Given the description of an element on the screen output the (x, y) to click on. 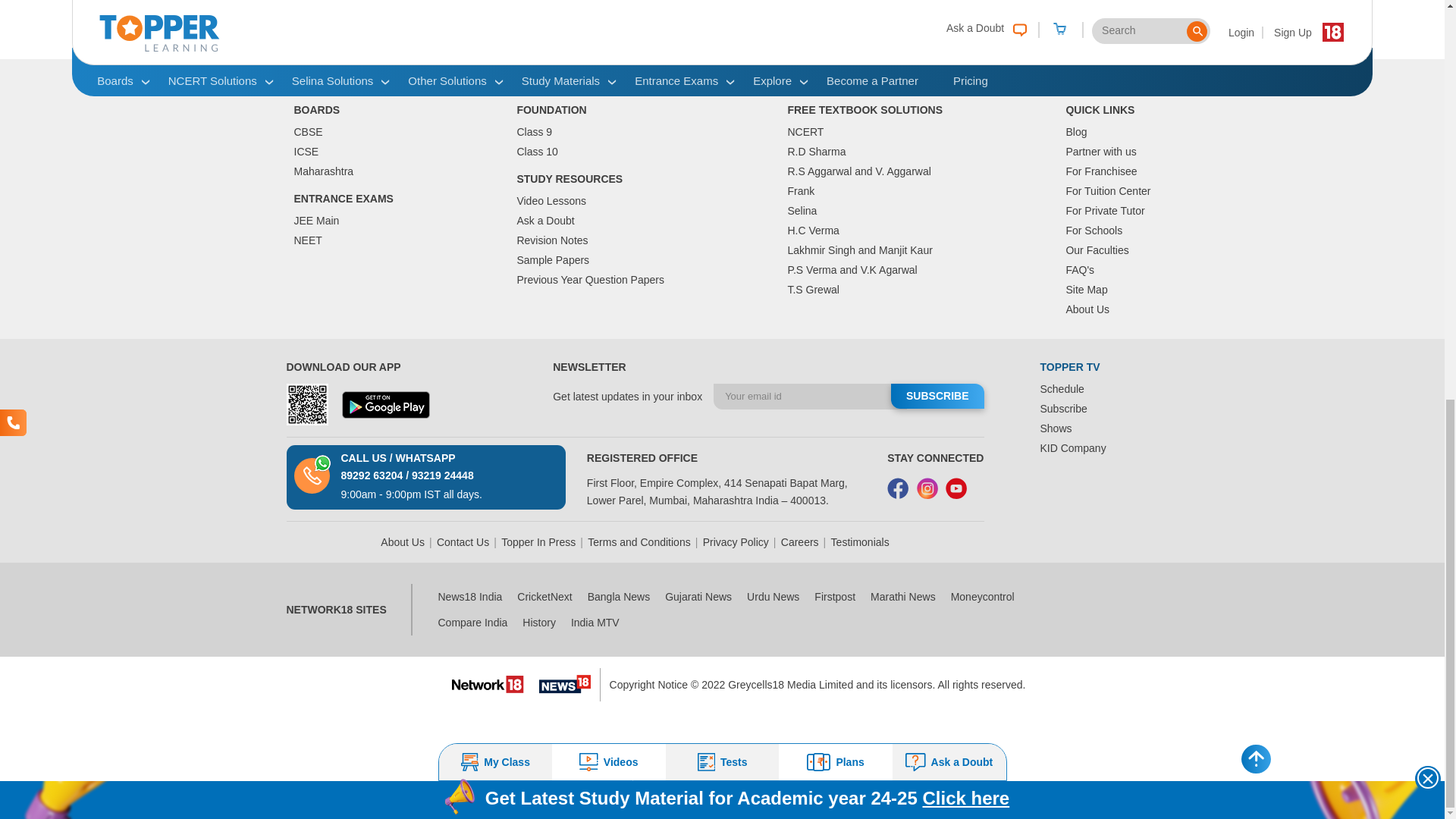
Googleplay (385, 404)
Network18 (487, 683)
QR Code (307, 404)
News18 (564, 683)
